Given the description of an element on the screen output the (x, y) to click on. 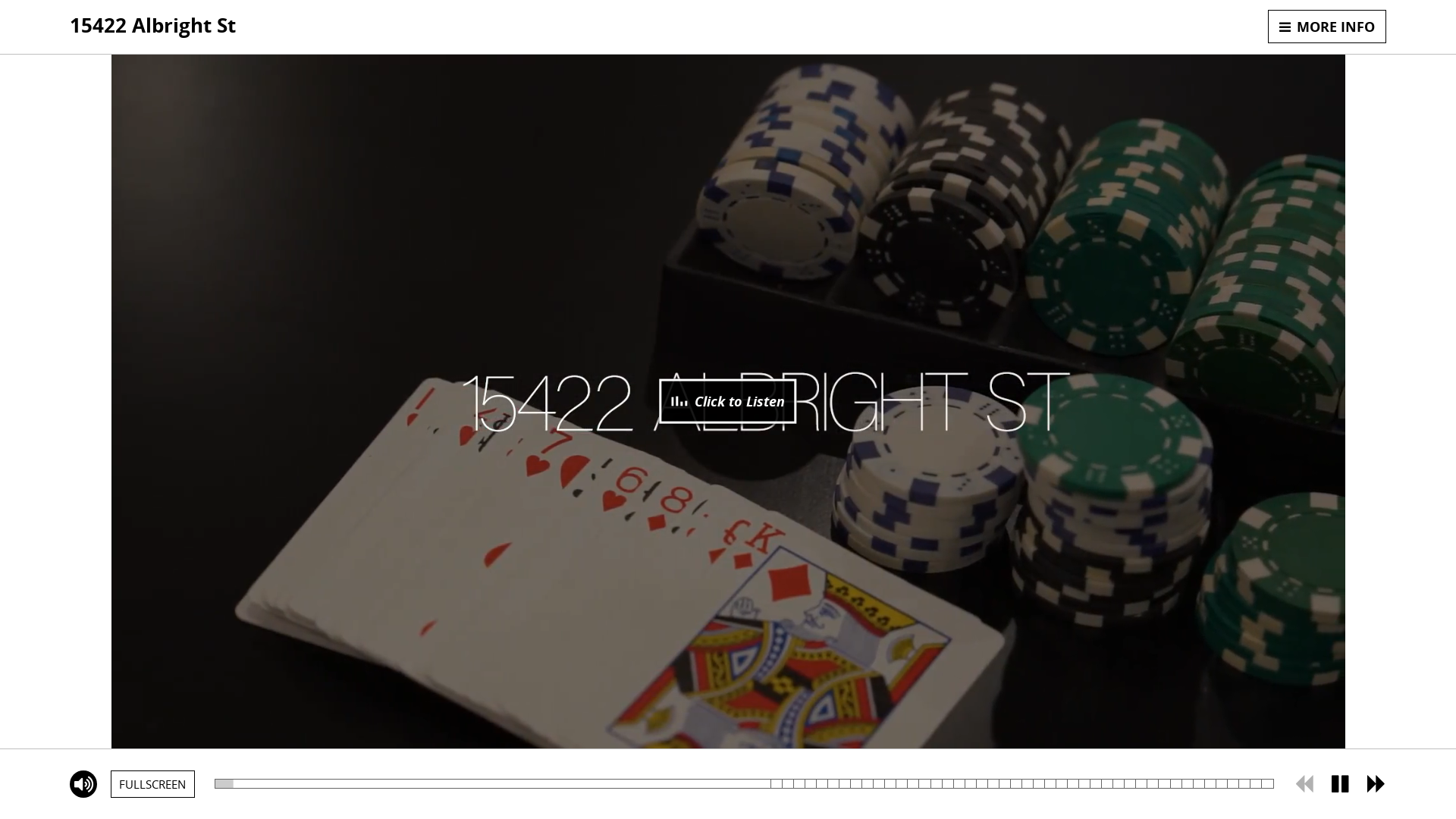
MORE INFO Element type: text (1326, 26)
